Given the description of an element on the screen output the (x, y) to click on. 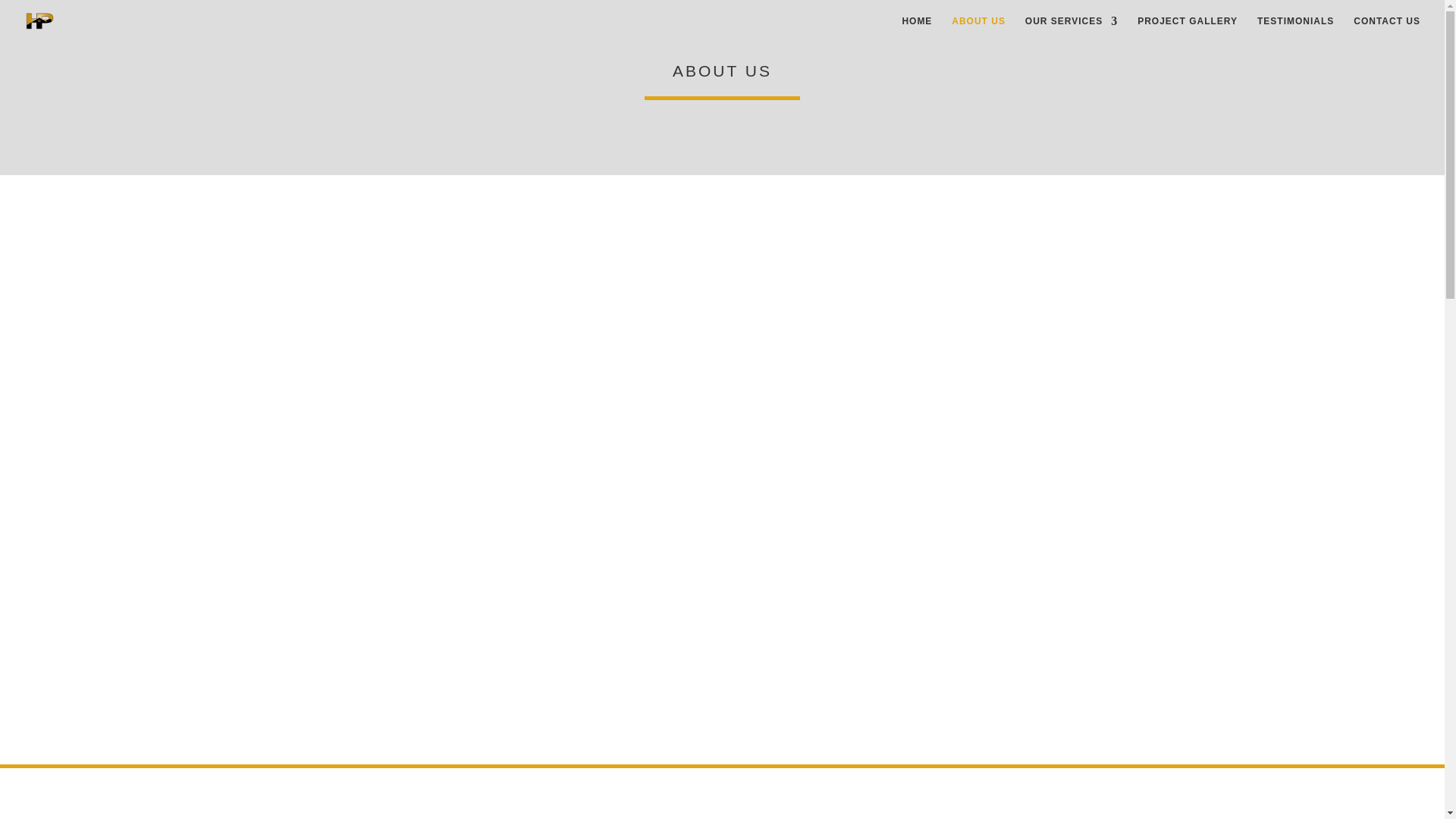
CONTACT US (1387, 28)
OUR SERVICES (1071, 28)
ABOUT US (979, 28)
TESTIMONIALS (1295, 28)
HOME (916, 28)
PROJECT GALLERY (1187, 28)
